Given the description of an element on the screen output the (x, y) to click on. 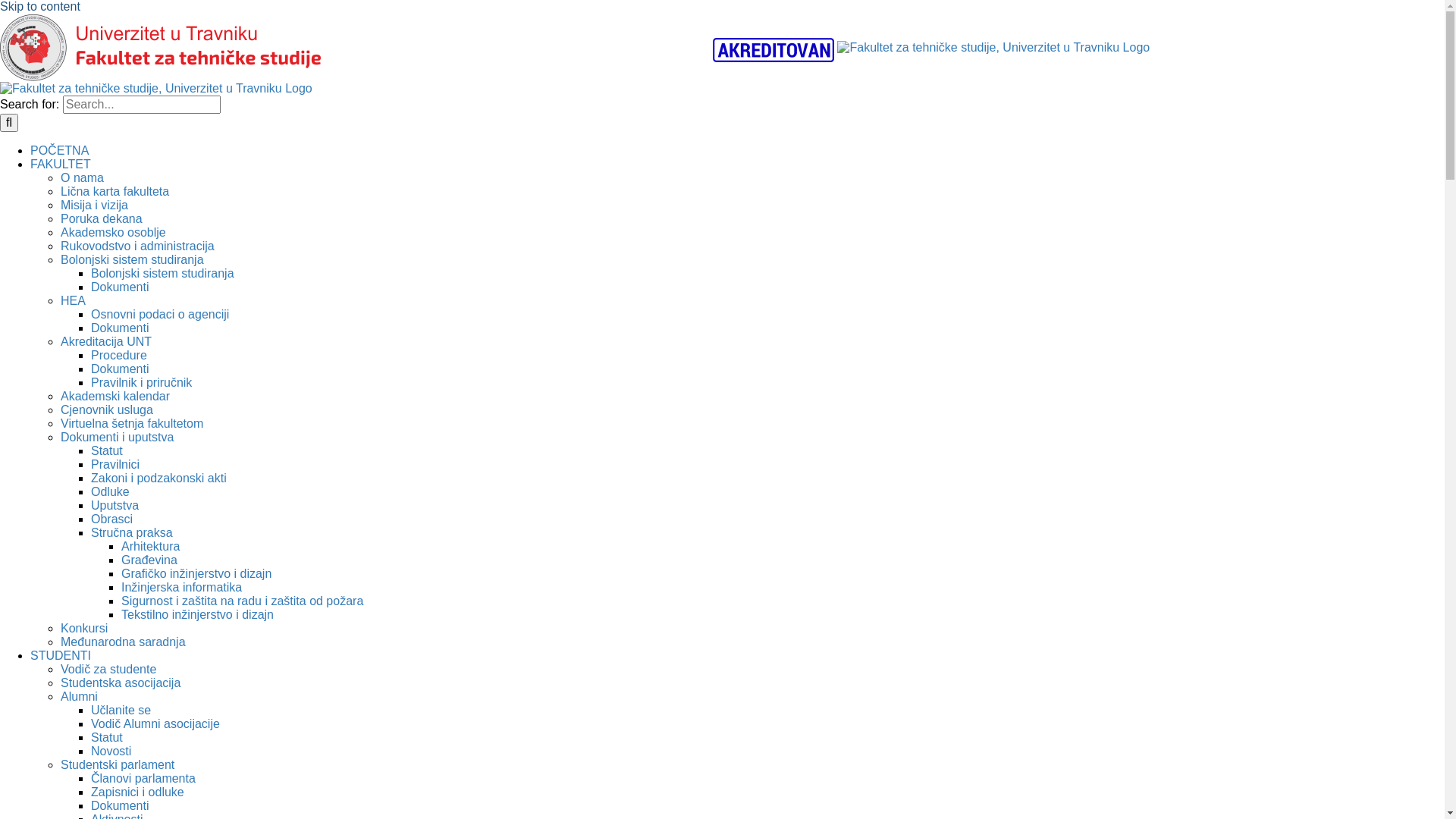
Akademsko osoblje Element type: text (113, 231)
Statut Element type: text (106, 450)
Alumni Element type: text (78, 696)
Konkursi Element type: text (83, 627)
Bolonjski sistem studiranja Element type: text (162, 272)
Novosti Element type: text (111, 750)
Dokumenti Element type: text (119, 286)
Pravilnici Element type: text (115, 464)
Rukovodstvo i administracija Element type: text (137, 245)
Studentski parlament Element type: text (117, 764)
Odluke Element type: text (110, 491)
Statut Element type: text (106, 737)
Studentska asocijacija Element type: text (120, 682)
Dokumenti i uputstva Element type: text (116, 436)
Obrasci Element type: text (111, 518)
Osnovni podaci o agenciji Element type: text (160, 313)
Dokumenti Element type: text (119, 805)
Zapisnici i odluke Element type: text (137, 791)
Akreditacija UNT Element type: text (105, 341)
O nama Element type: text (81, 177)
Misija i vizija Element type: text (94, 204)
Cjenovnik usluga Element type: text (106, 409)
Akademski kalendar Element type: text (114, 395)
Dokumenti Element type: text (119, 368)
Skip to content Element type: text (40, 6)
Poruka dekana Element type: text (101, 218)
HEA Element type: text (72, 300)
Uputstva Element type: text (114, 504)
Bolonjski sistem studiranja Element type: text (131, 259)
Zakoni i podzakonski akti Element type: text (158, 477)
STUDENTI Element type: text (60, 655)
FAKULTET Element type: text (60, 163)
Dokumenti Element type: text (119, 327)
Arhitektura Element type: text (150, 545)
Procedure Element type: text (119, 354)
